Given the description of an element on the screen output the (x, y) to click on. 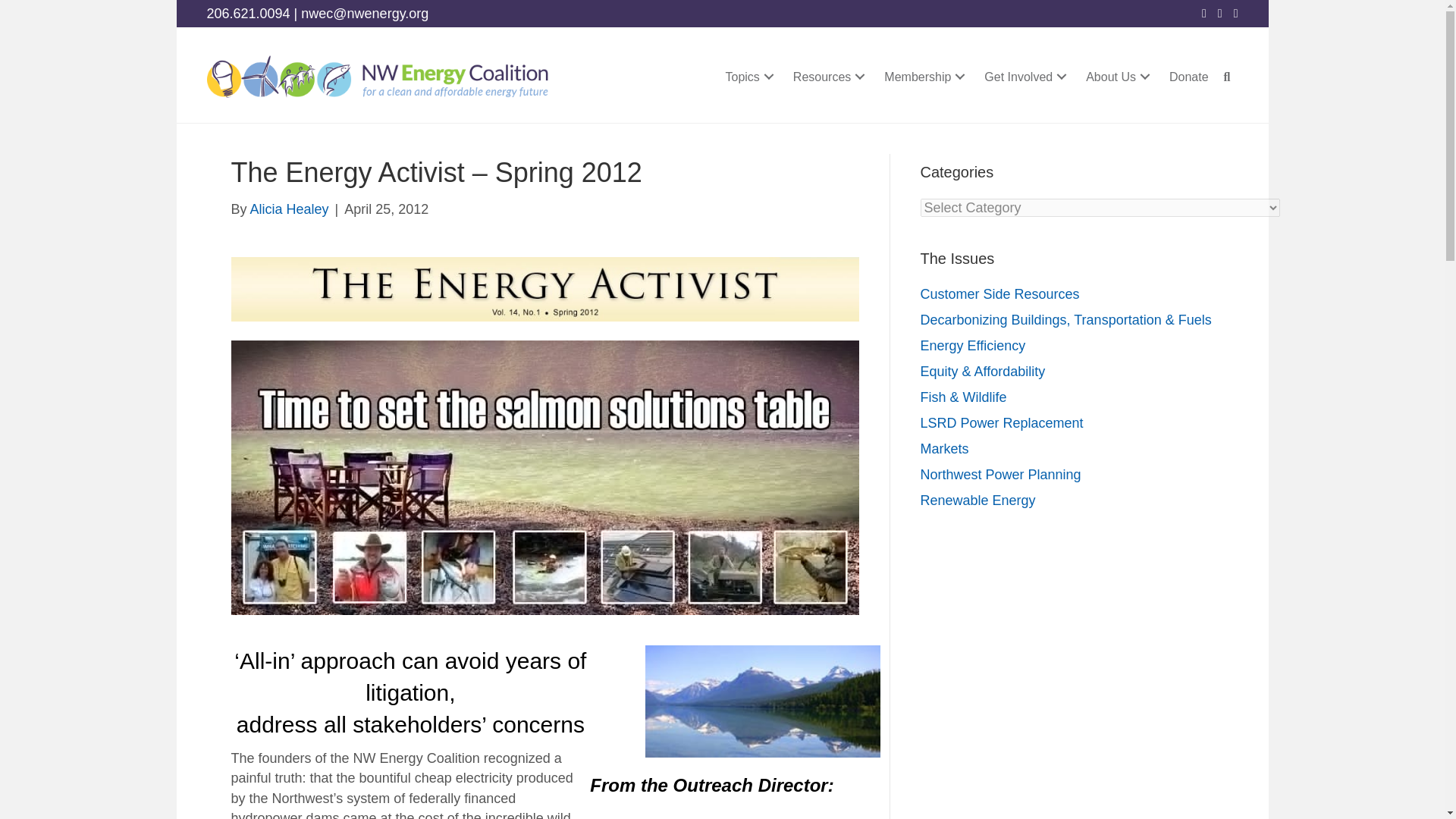
Header (544, 289)
Membership (926, 76)
Resources (831, 76)
kalispellsml (762, 701)
Get Involved (1027, 76)
North West Energy Coalition (376, 76)
206.621.0094 (247, 13)
About Us (1119, 76)
Topics (750, 76)
